Given the description of an element on the screen output the (x, y) to click on. 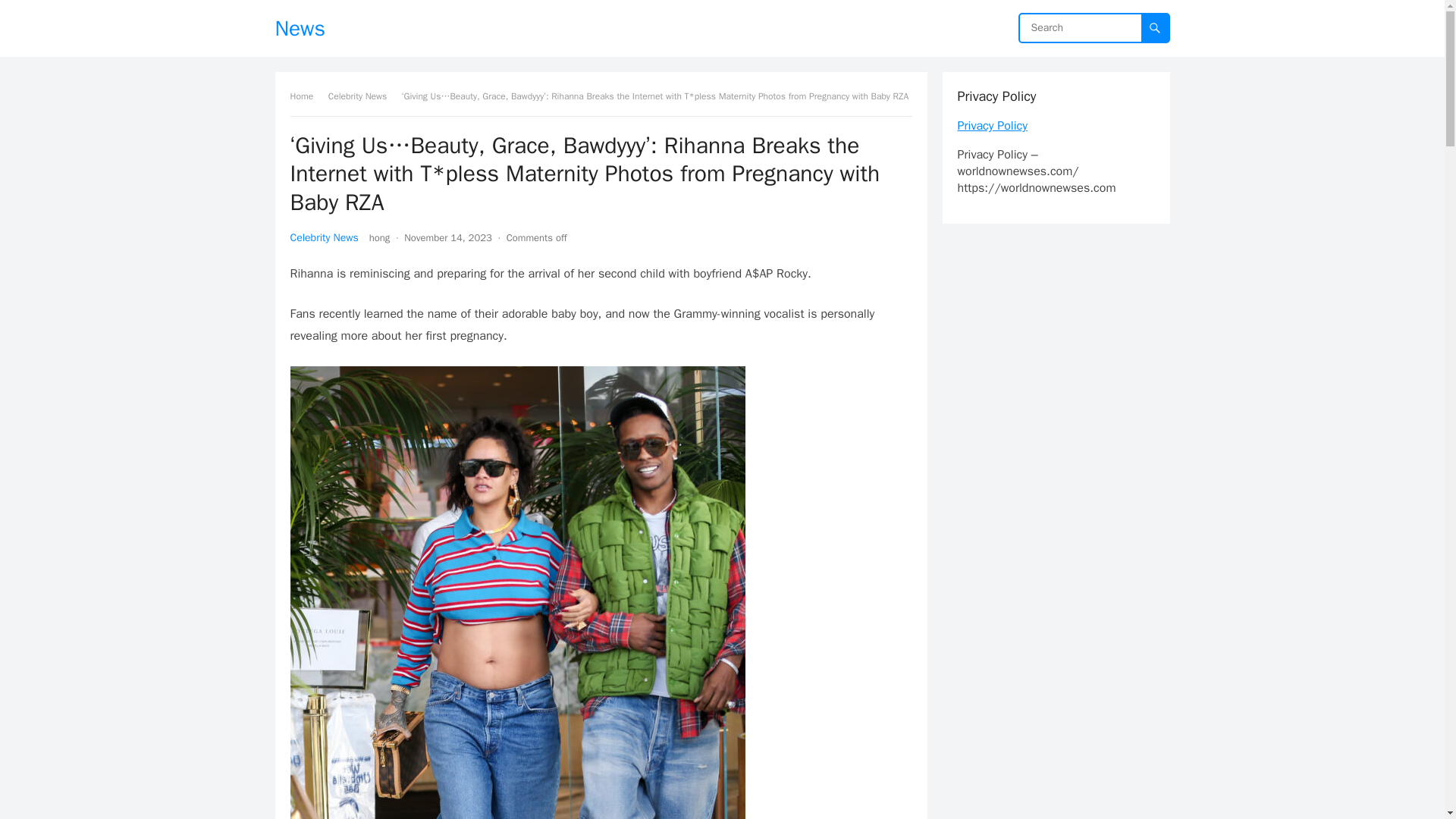
News (299, 28)
Home (306, 96)
Celebrity News (363, 96)
hong (379, 237)
Posts by hong (379, 237)
Celebrity News (323, 237)
